Given the description of an element on the screen output the (x, y) to click on. 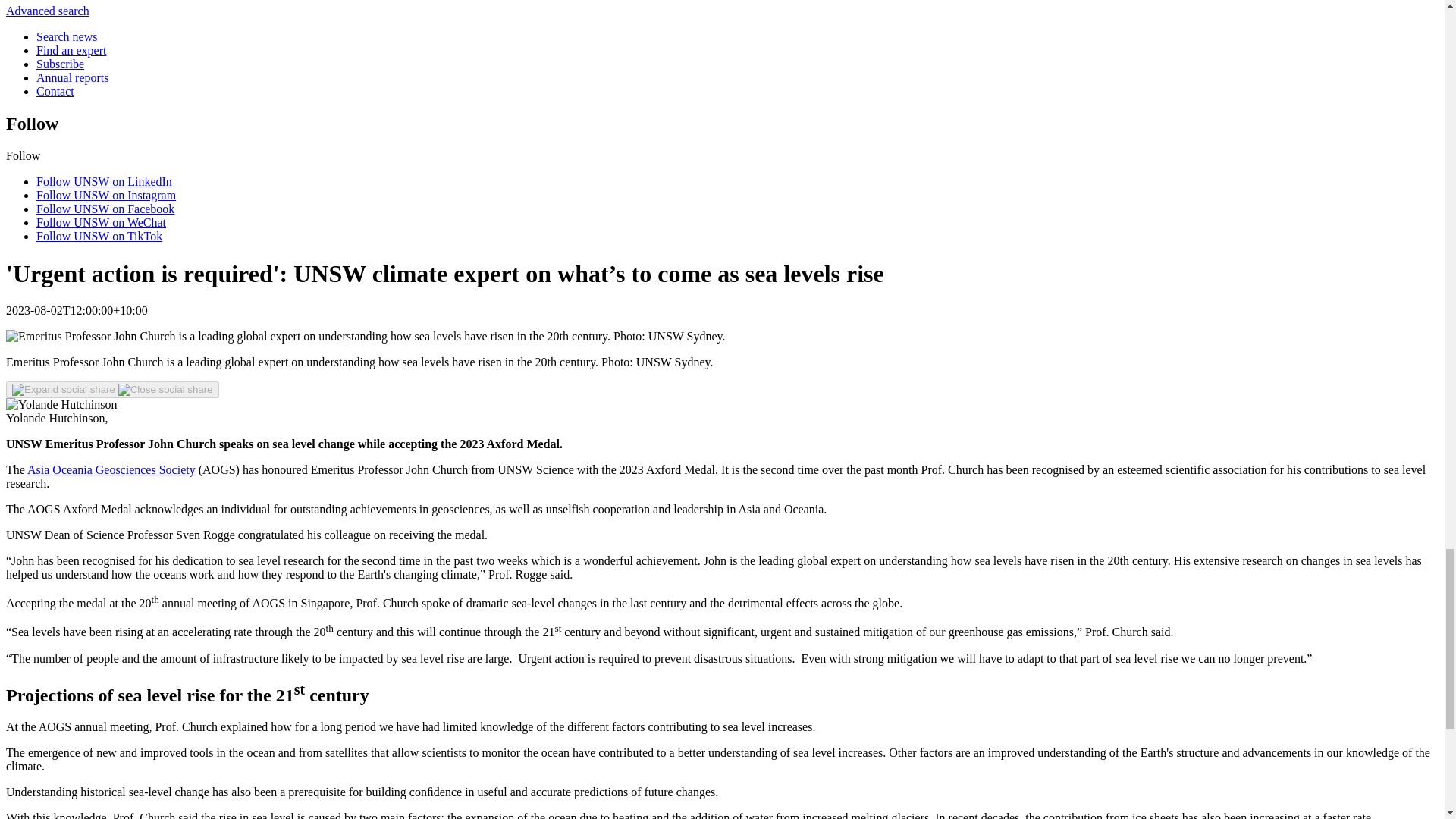
John Church (365, 336)
